Given the description of an element on the screen output the (x, y) to click on. 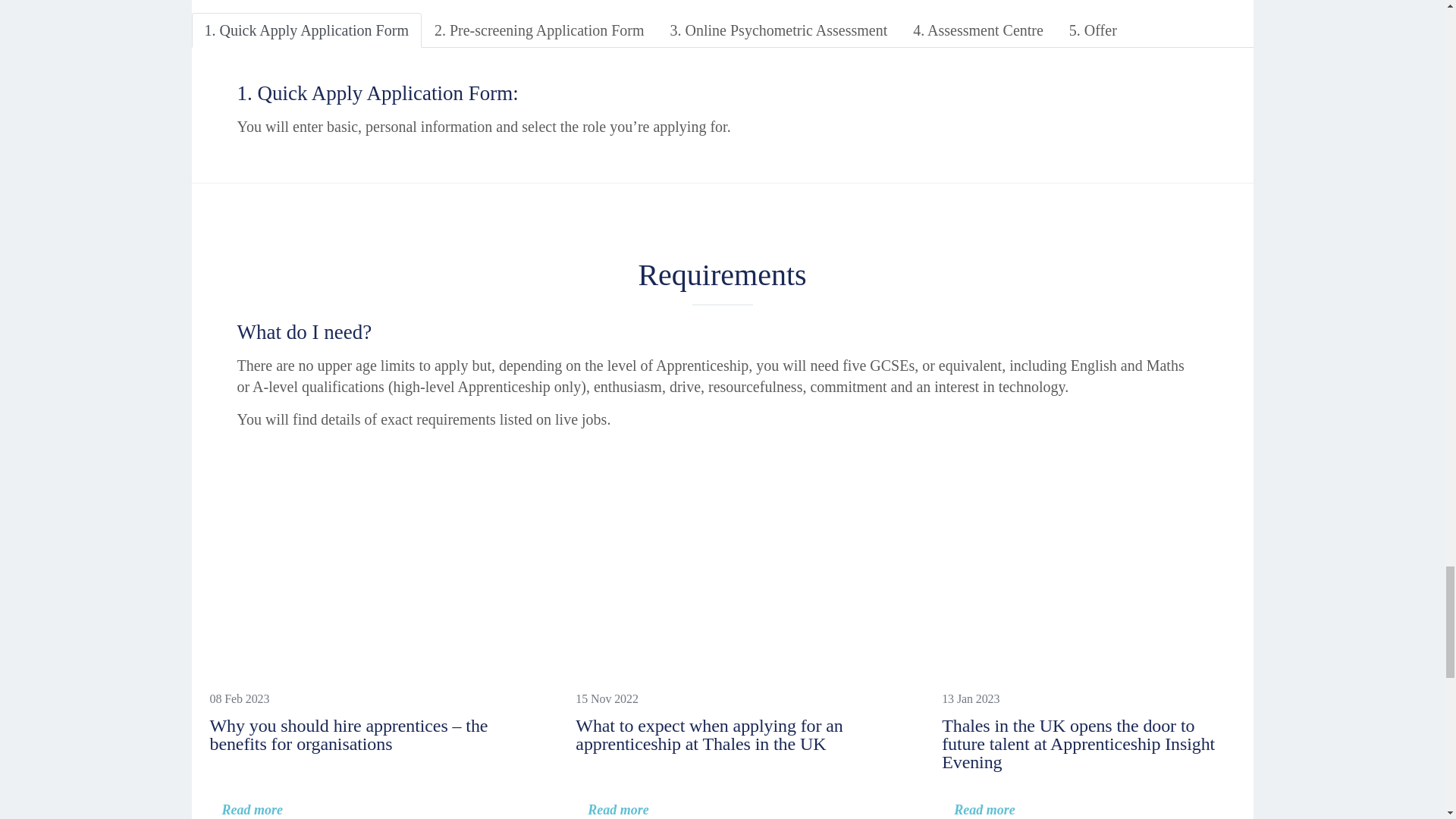
Read more (245, 810)
Read more (612, 810)
Read more (978, 810)
